Given the description of an element on the screen output the (x, y) to click on. 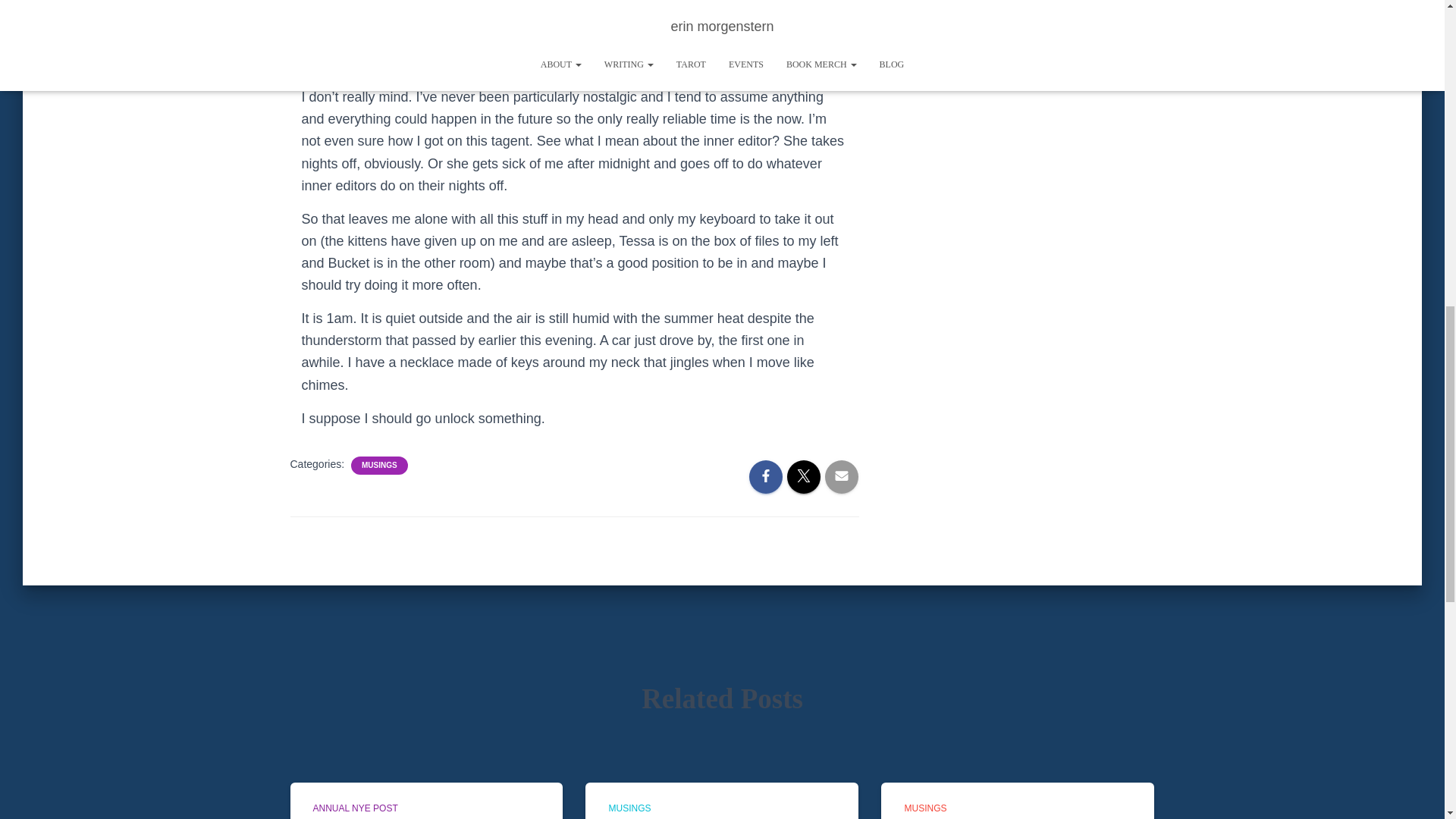
MUSINGS (378, 465)
MUSINGS (629, 808)
MUSINGS (925, 808)
ANNUAL NYE POST (355, 808)
